Given the description of an element on the screen output the (x, y) to click on. 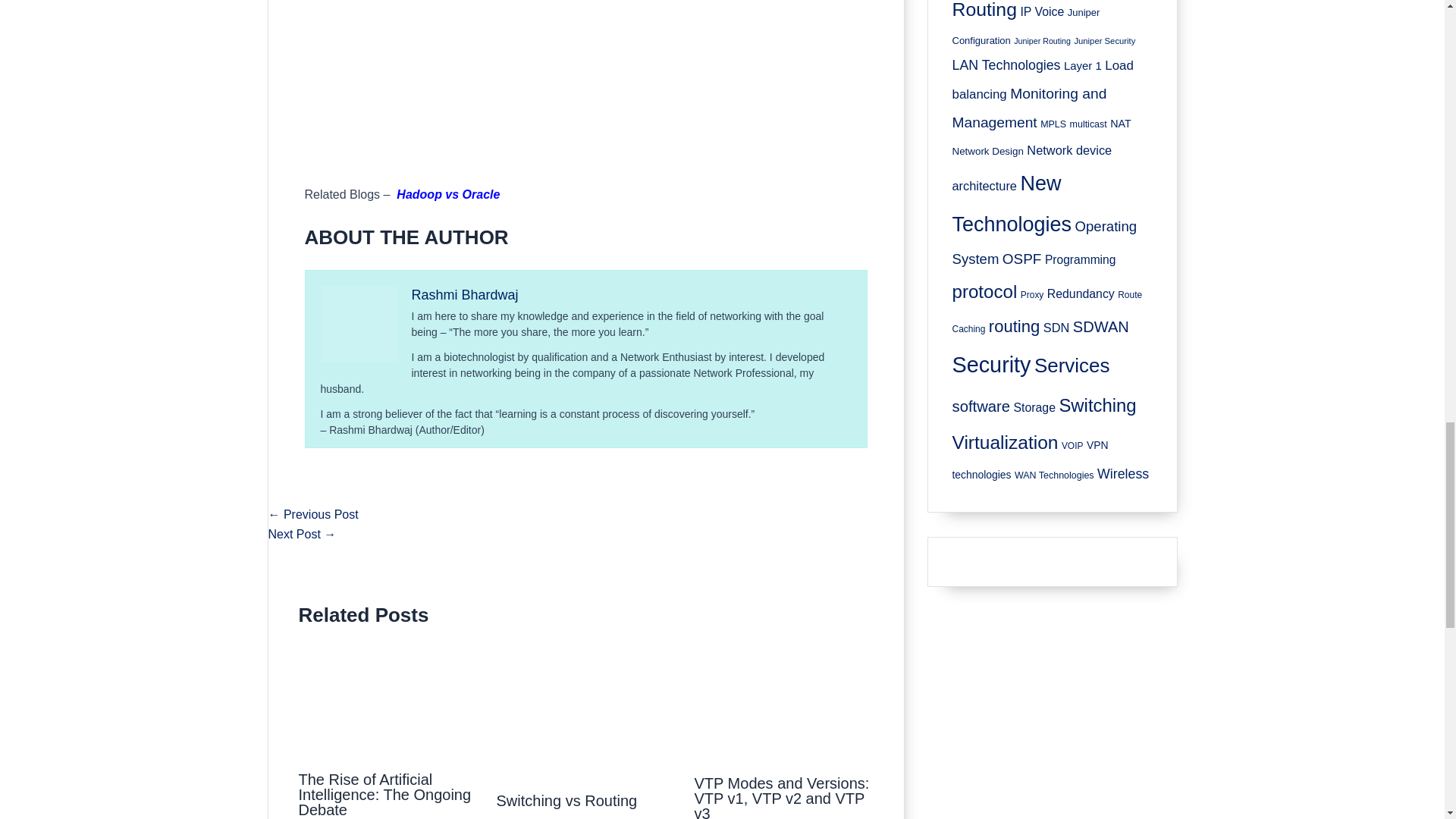
What is Process Switching? (301, 533)
